Given the description of an element on the screen output the (x, y) to click on. 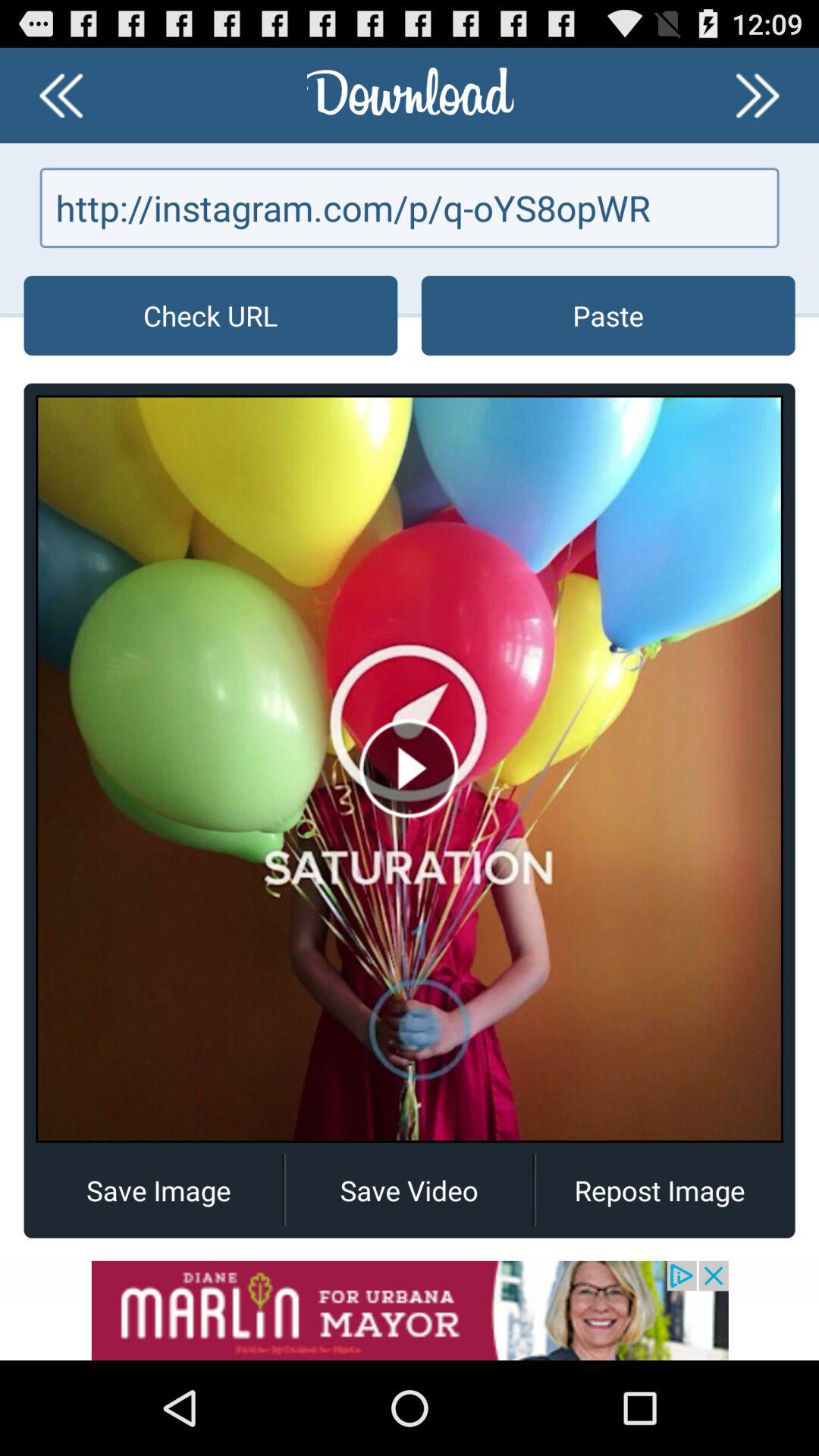
open advertisement (409, 1310)
